Given the description of an element on the screen output the (x, y) to click on. 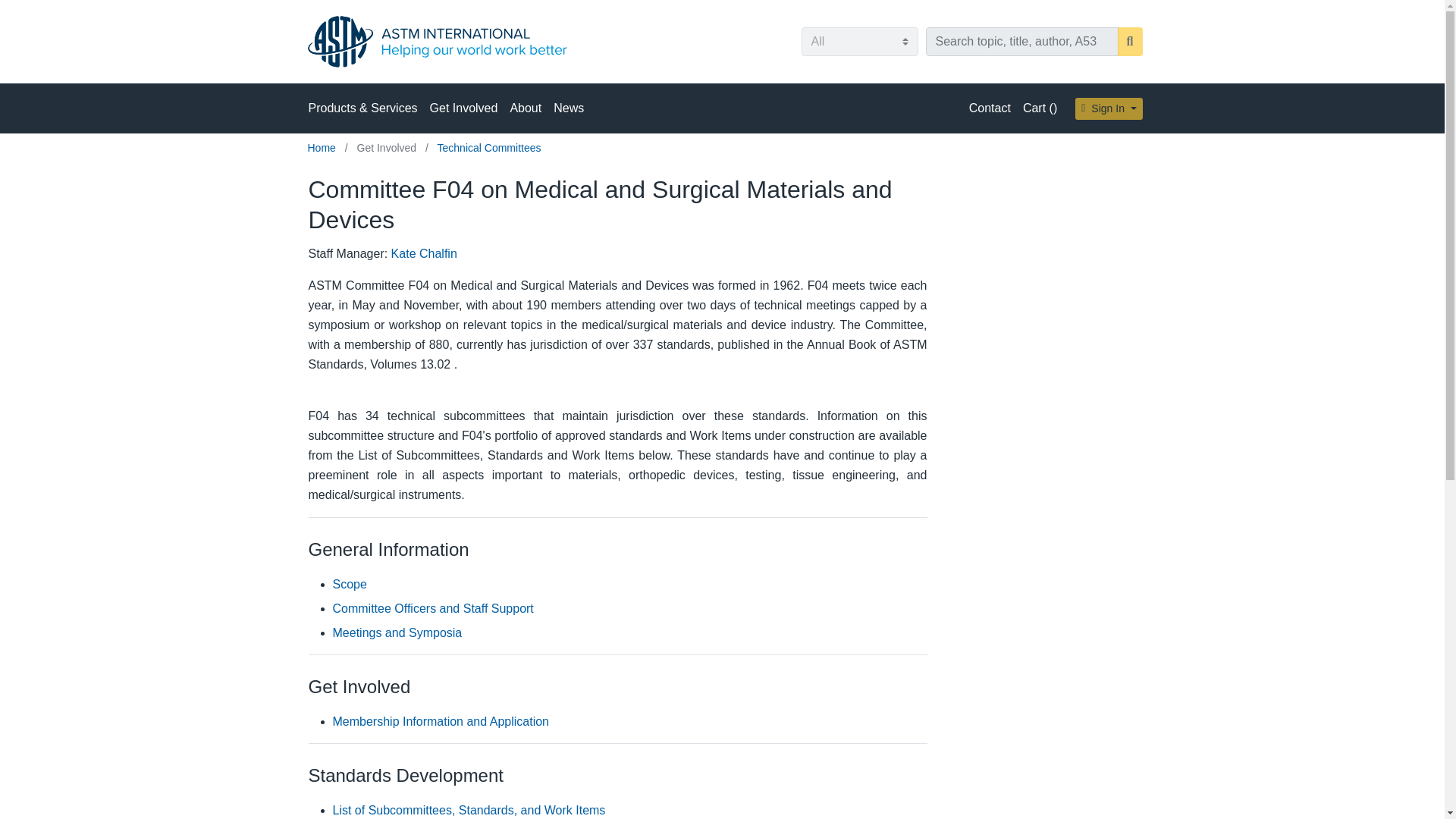
Go to Home Page (323, 147)
Get Involved (388, 147)
All (858, 41)
Technical Committees (489, 147)
